Given the description of an element on the screen output the (x, y) to click on. 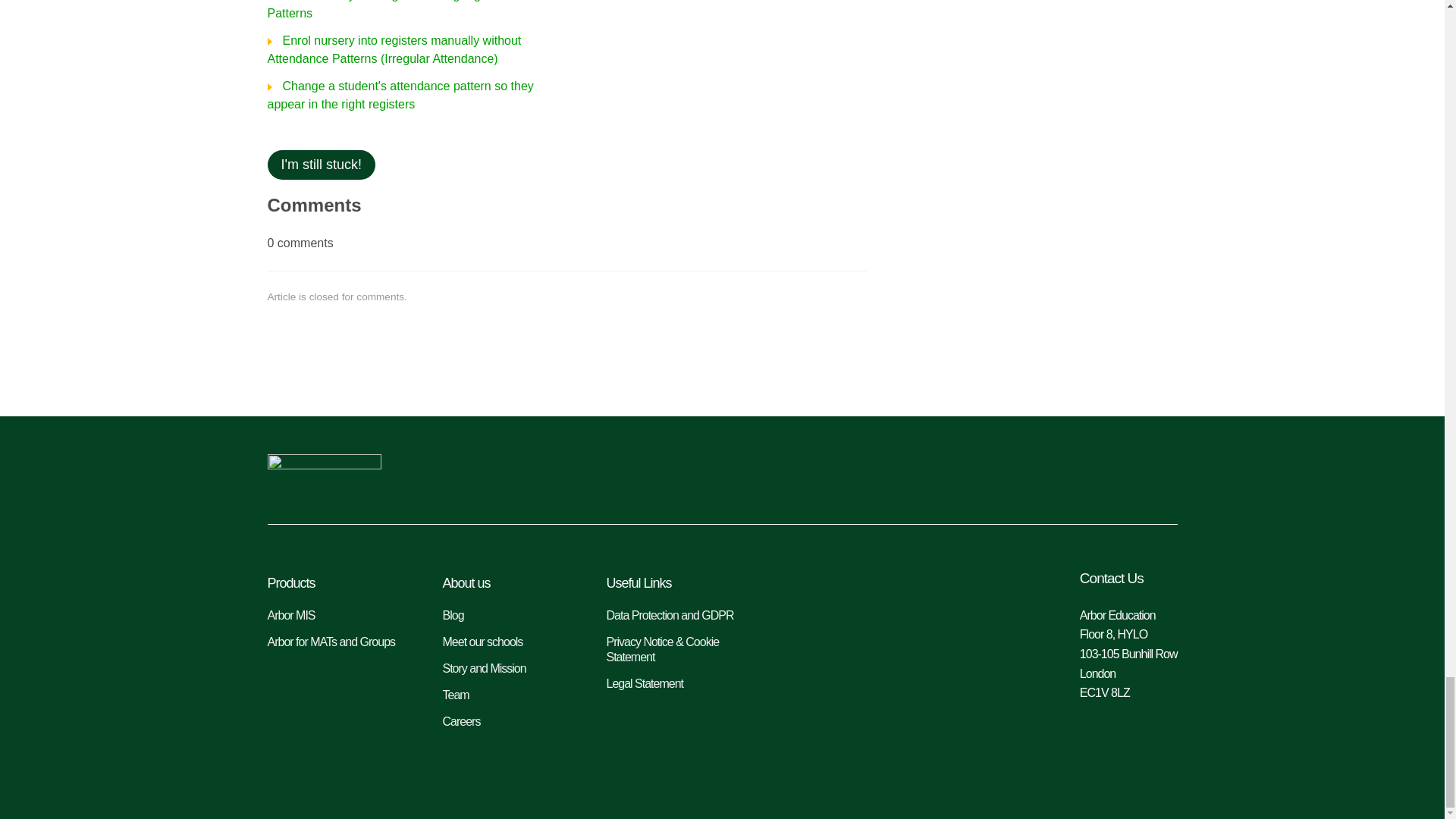
Twitter (1109, 474)
Linkedin (1061, 474)
Facebook (1159, 474)
I'm still stuck! (320, 164)
Arbor MIS (339, 615)
Arbor for MATs and Groups (339, 642)
Products (339, 582)
